Given the description of an element on the screen output the (x, y) to click on. 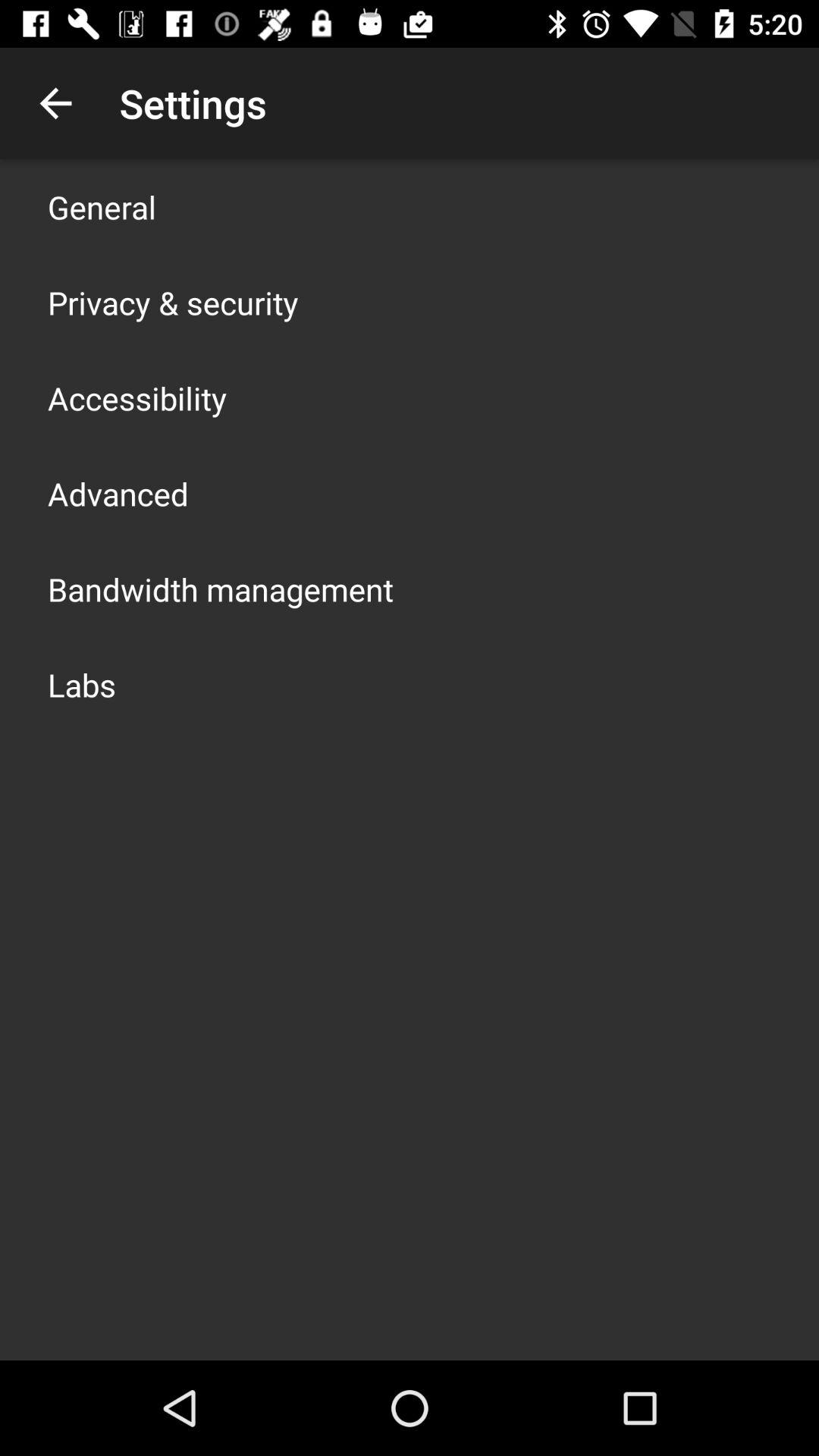
choose item below general app (172, 302)
